Given the description of an element on the screen output the (x, y) to click on. 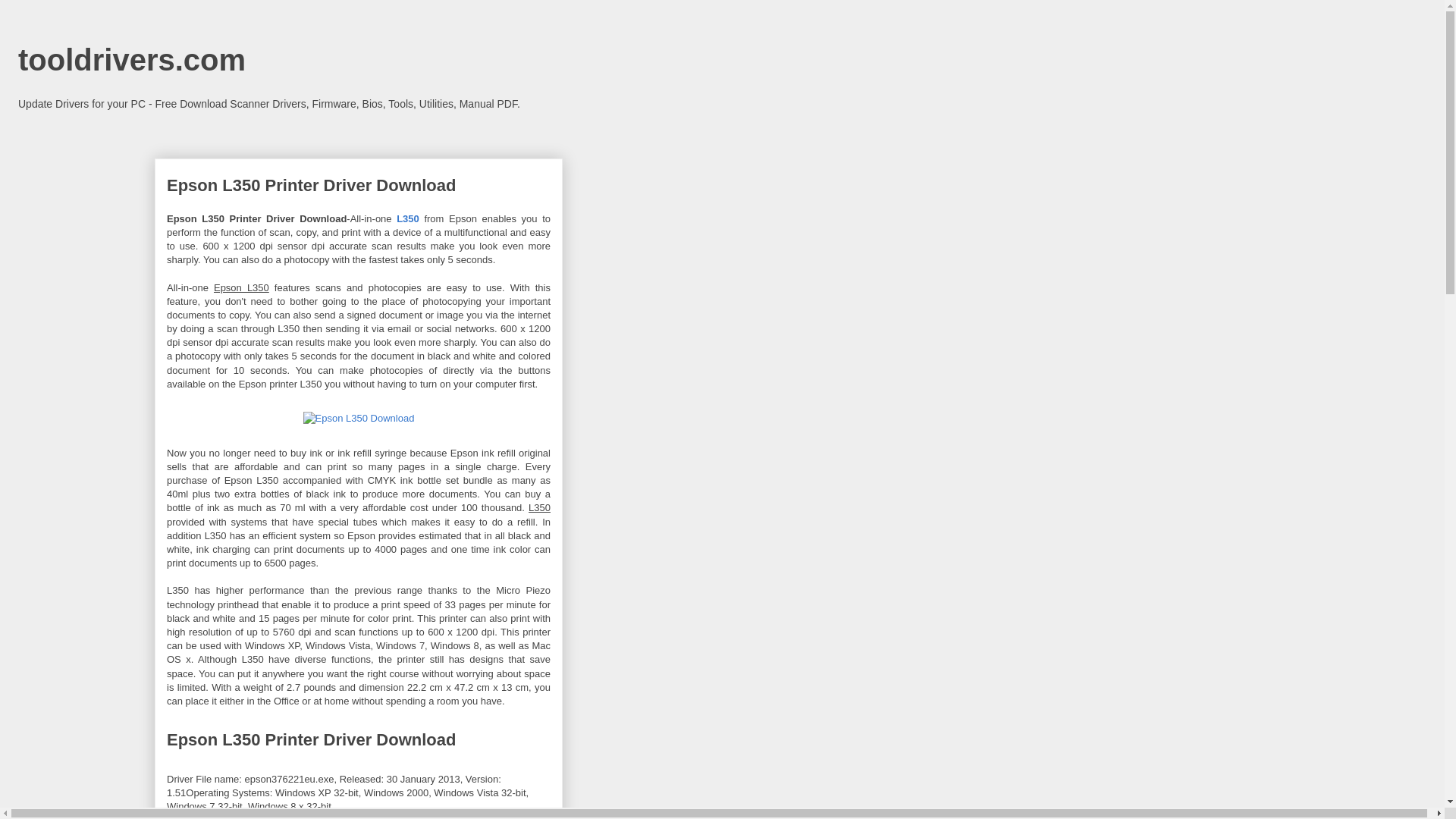
L350 (409, 218)
Epson L350 Driver (359, 418)
tooldrivers.com (131, 59)
